Given the description of an element on the screen output the (x, y) to click on. 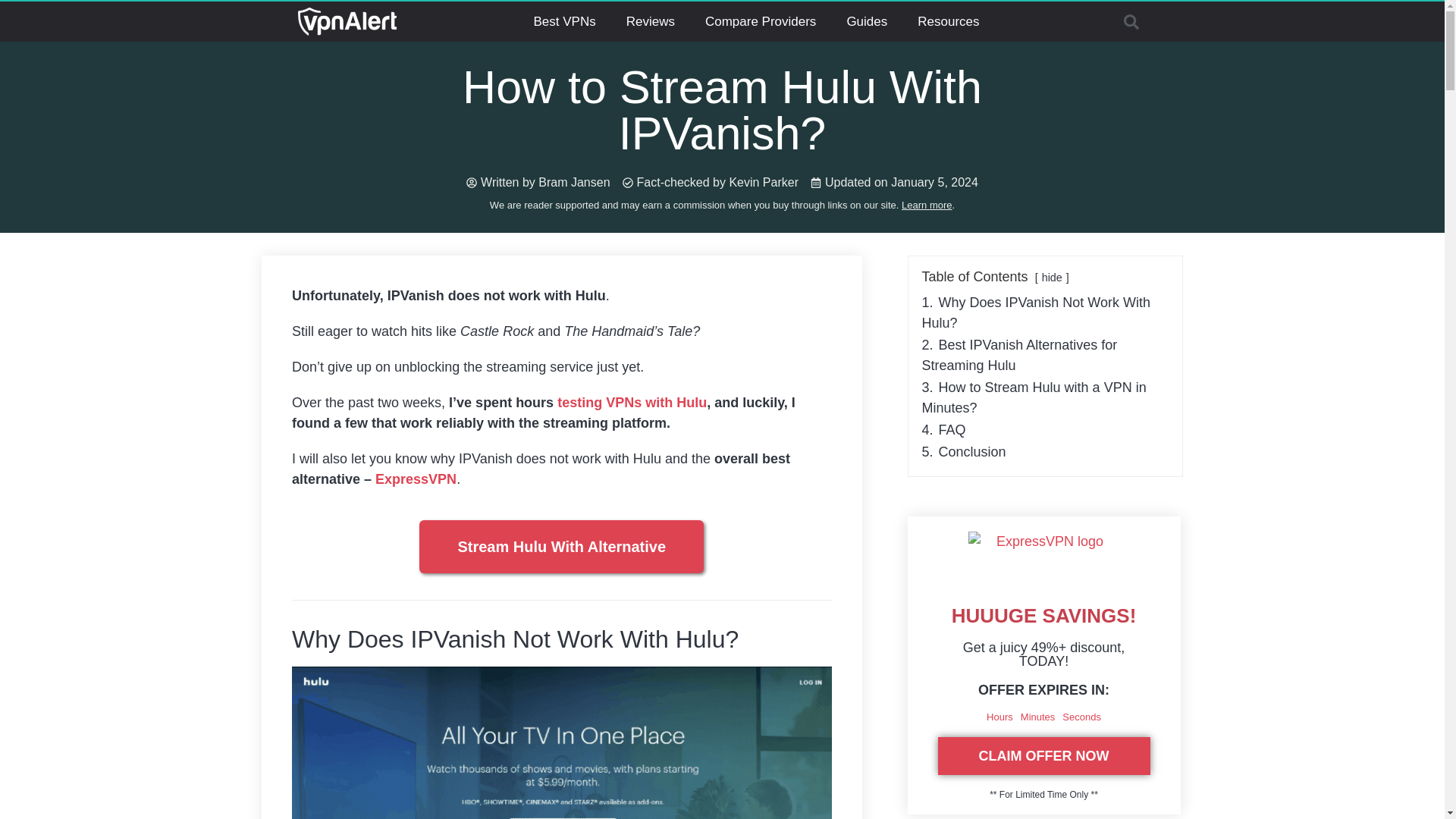
ExpressVPN (416, 478)
Written by Bram Jansen (537, 181)
Resources (948, 21)
Guides (866, 21)
Learn more (926, 204)
Compare Providers (760, 21)
Stream Hulu With Alternative (561, 546)
Reviews (650, 21)
Best VPNs (564, 21)
testing VPNs with Hulu (631, 402)
